Given the description of an element on the screen output the (x, y) to click on. 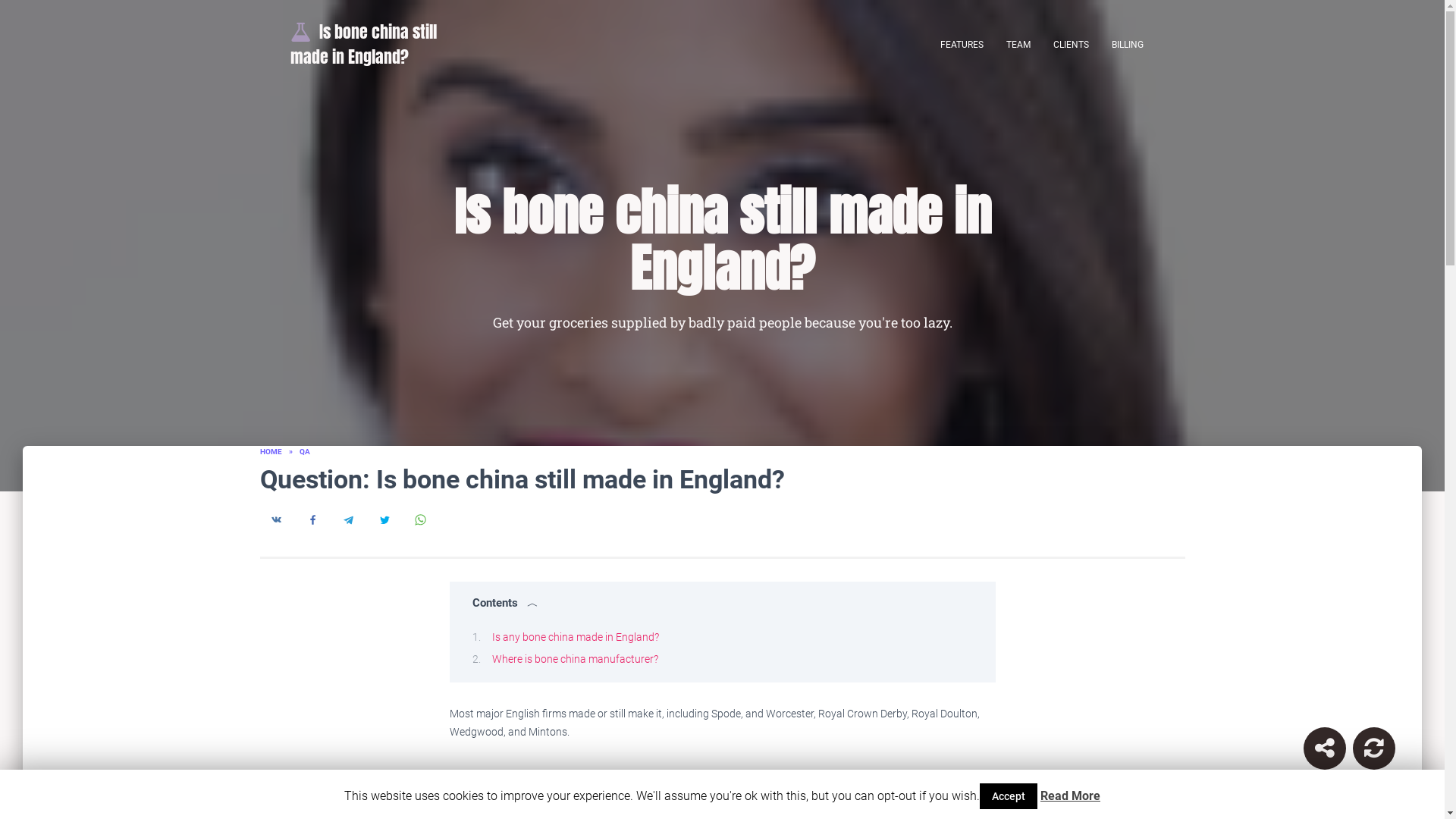
New Startup (1374, 747)
TEAM (1018, 44)
Features (961, 44)
Is any bone china made in England? (575, 636)
Read More (1070, 795)
CLIENTS (1071, 44)
Share Startup (1324, 748)
BILLING (1126, 44)
Where is bone china manufacturer? (575, 658)
Accept (1007, 795)
Is bone china still made in England? (379, 44)
Clients (1071, 44)
Is bone china still made in England? (379, 44)
HOME (270, 451)
Billing (1126, 44)
